Given the description of an element on the screen output the (x, y) to click on. 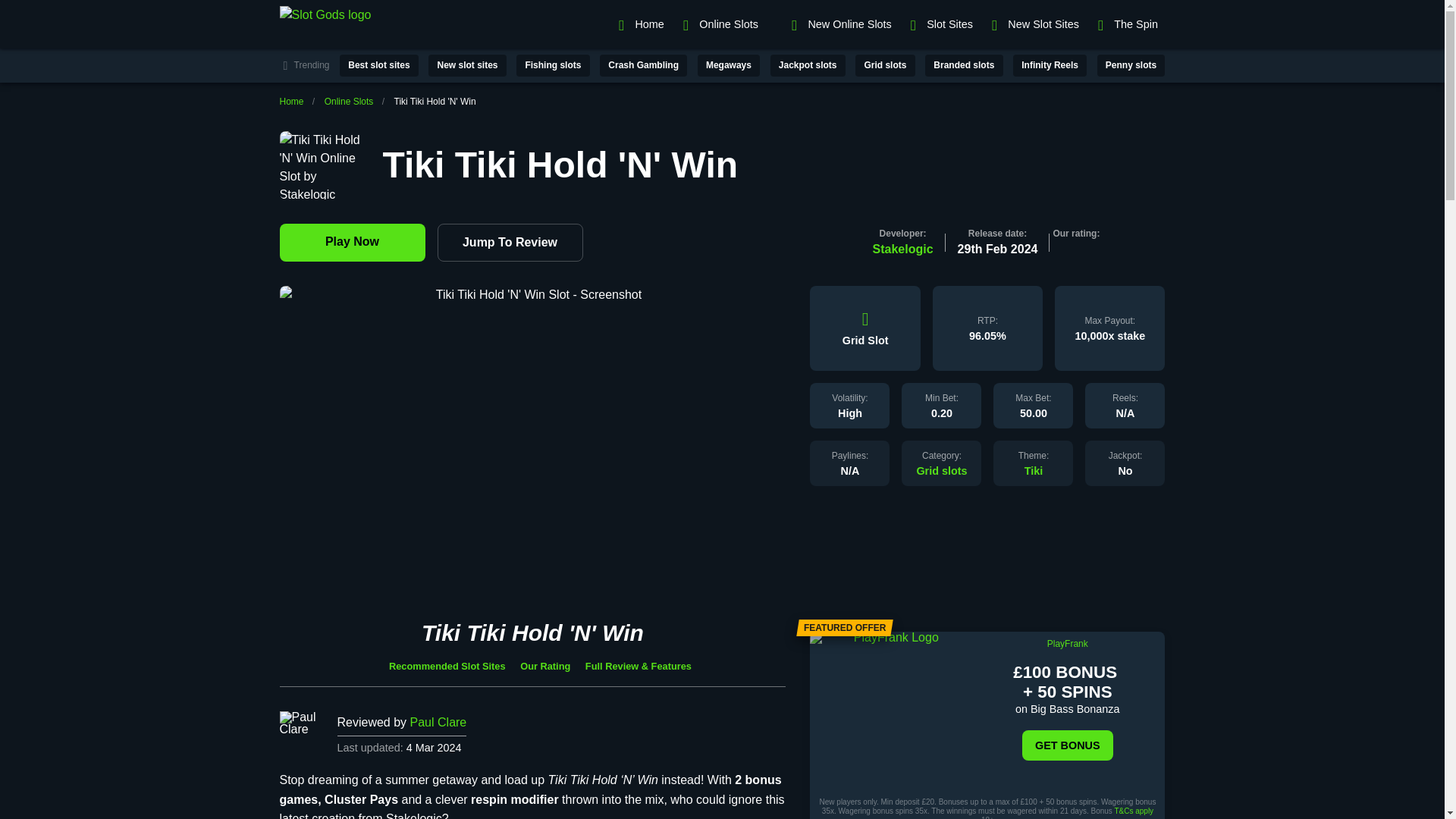
New Slot Sites (1032, 24)
3.9 out of 5 (1075, 251)
Infinity Reels (1049, 65)
Jackpot slots (807, 65)
Grid slots (885, 65)
Online Slots (724, 24)
Grid slots (940, 470)
Crash Gambling (643, 65)
Megaways (728, 65)
Home (639, 24)
Home (290, 101)
New Online Slots (839, 24)
New slot sites (466, 65)
Online Slots (349, 101)
Fishing slots (552, 65)
